Given the description of an element on the screen output the (x, y) to click on. 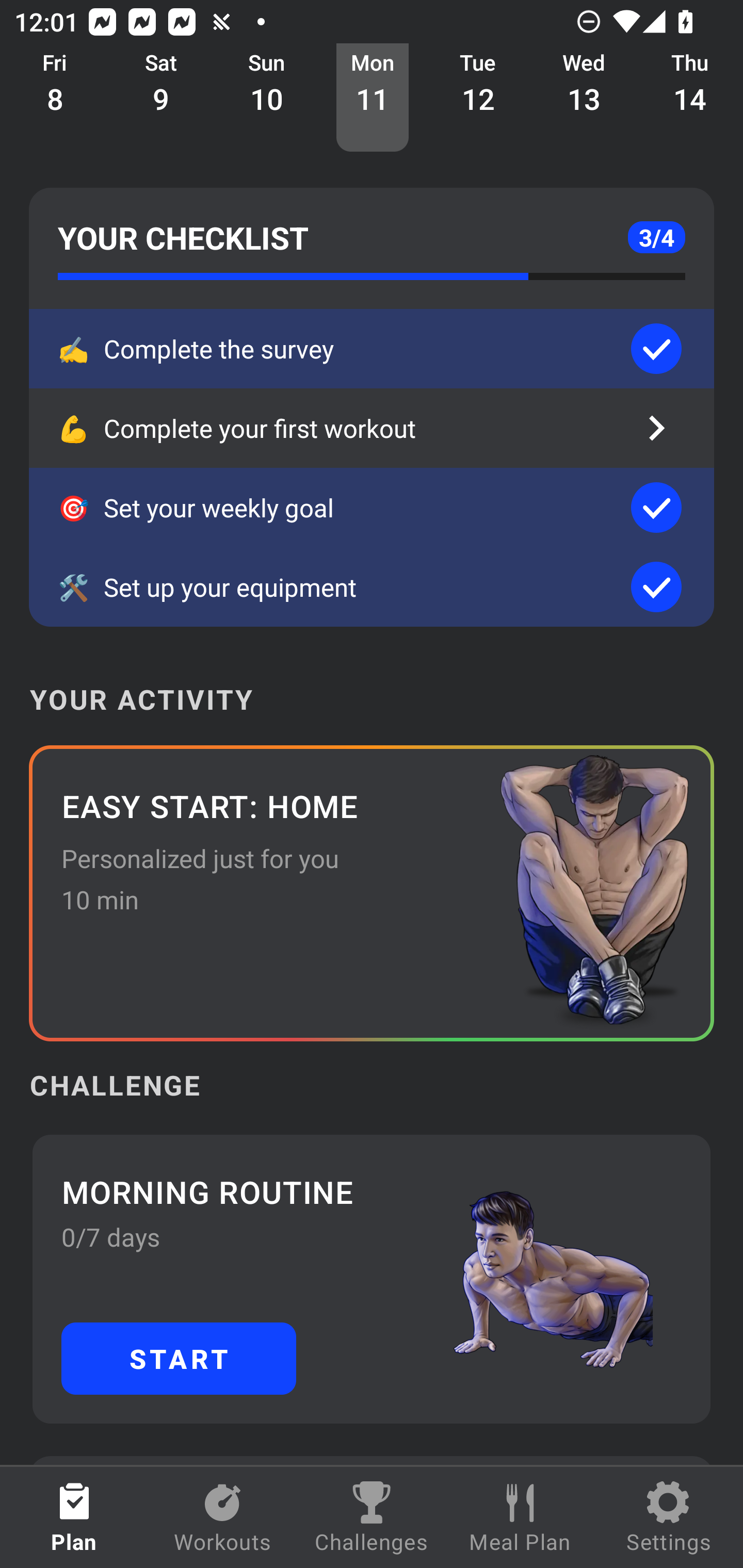
Fri 8 (55, 97)
Sat 9 (160, 97)
Sun 10 (266, 97)
Mon 11 (372, 97)
Tue 12 (478, 97)
Wed 13 (584, 97)
Thu 14 (690, 97)
💪 Complete your first workout (371, 427)
EASY START: HOME Personalized just for you 10 min (371, 892)
MORNING ROUTINE 0/7 days START (371, 1278)
START (178, 1357)
 Workouts  (222, 1517)
 Challenges  (371, 1517)
 Meal Plan  (519, 1517)
 Settings  (668, 1517)
